Given the description of an element on the screen output the (x, y) to click on. 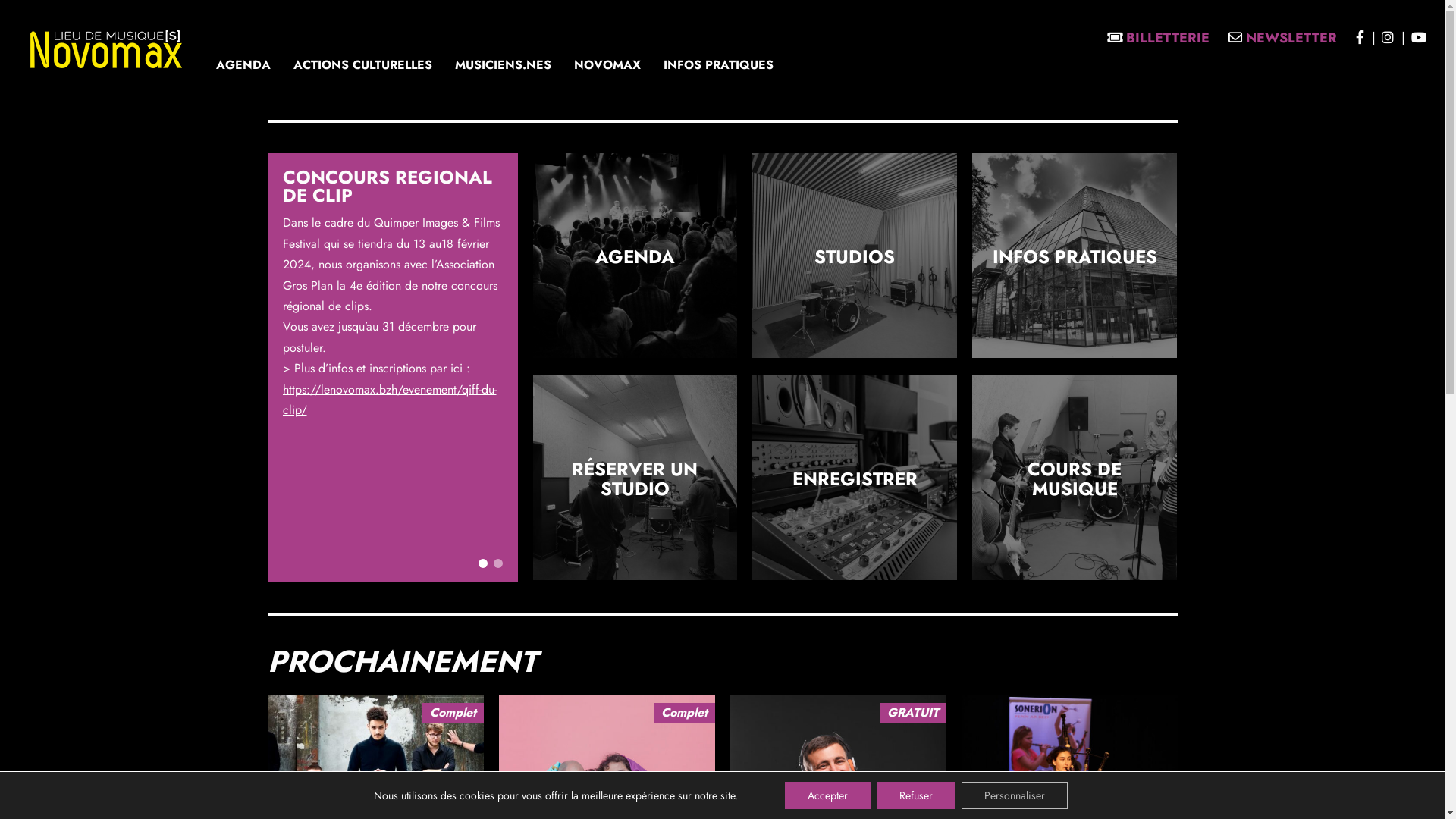
Personnaliser Element type: text (1014, 795)
https://lenovomax.bzh/evenement/qiff-du-clip/ Element type: text (388, 399)
MUSICIENS.NES Element type: text (503, 65)
BILLETTERIE Element type: text (1158, 37)
INFOS PRATIQUES Element type: text (718, 65)
ENREGISTRER Element type: text (854, 478)
INFOS PRATIQUES Element type: text (1074, 256)
COURS DE MUSIQUE Element type: text (1074, 478)
NEWSLETTER Element type: text (1282, 37)
Refuser Element type: text (915, 795)
Novomax Element type: hover (106, 49)
Accepter Element type: text (827, 795)
AGENDA Element type: text (243, 65)
ACTIONS CULTURELLES Element type: text (362, 65)
STUDIOS Element type: text (854, 256)
NOVOMAX Element type: text (607, 65)
AGENDA Element type: text (634, 256)
